Given the description of an element on the screen output the (x, y) to click on. 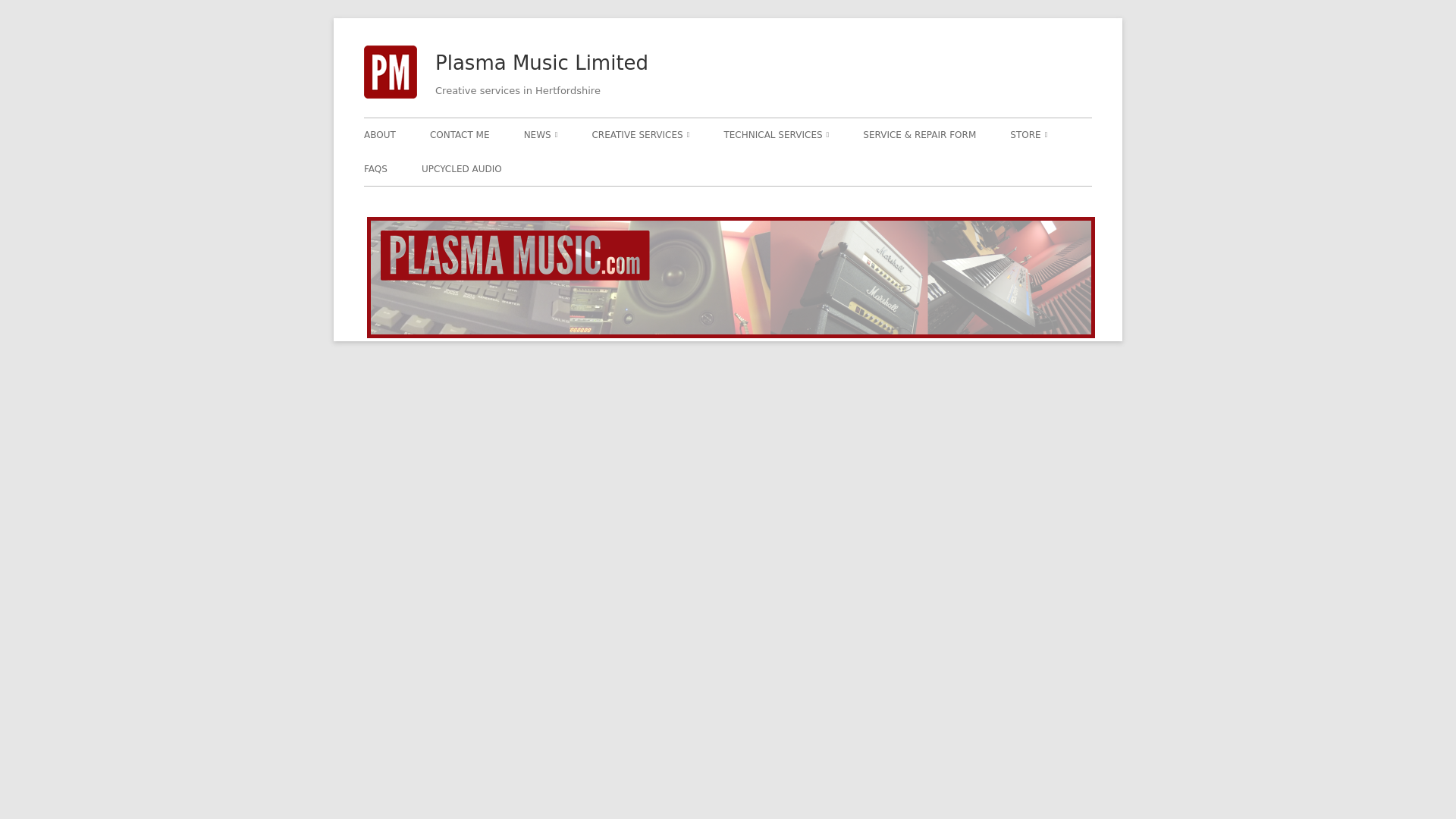
GUITAR AMP REPAIRS (809, 167)
UPCYCLED AUDIO (462, 168)
Plasma Music Limited (541, 63)
NEWS (540, 134)
ABOUT (380, 134)
CONTACT ME (459, 134)
CREATIVE SERVICES (639, 134)
TECHNICAL SERVICES (775, 134)
AUDIO RECORDING STUDIO (678, 167)
Search (28, 12)
STORE (1028, 134)
PRODUCTS (1096, 167)
